Given the description of an element on the screen output the (x, y) to click on. 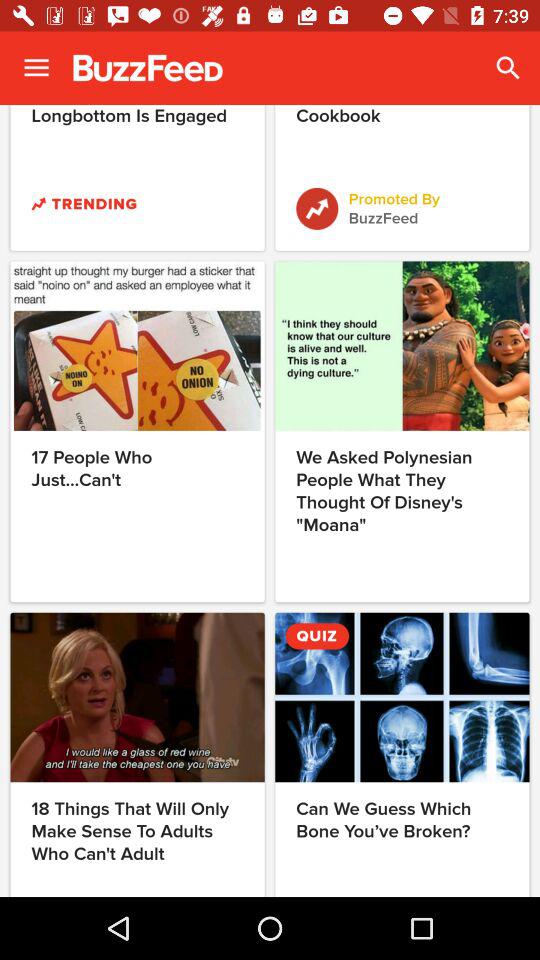
launch icon above god damnit neville icon (36, 68)
